Given the description of an element on the screen output the (x, y) to click on. 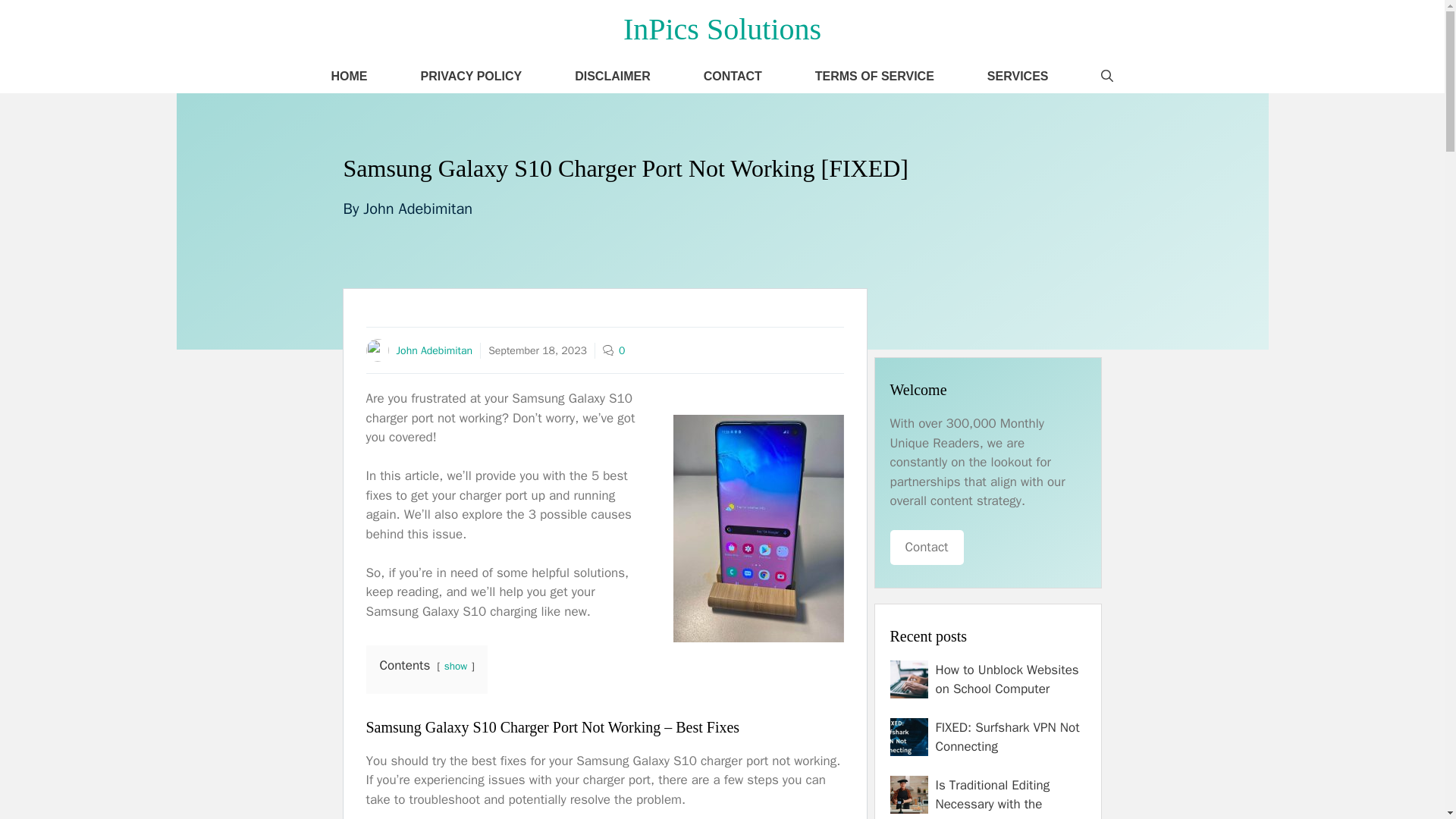
HOME (349, 75)
show (455, 666)
John Adebimitan (416, 208)
John Adebimitan (433, 350)
TERMS OF SERVICE (874, 75)
DISCLAIMER (612, 75)
PRIVACY POLICY (471, 75)
SERVICES (1017, 75)
CONTACT (733, 75)
InPics Solutions (722, 28)
